Given the description of an element on the screen output the (x, y) to click on. 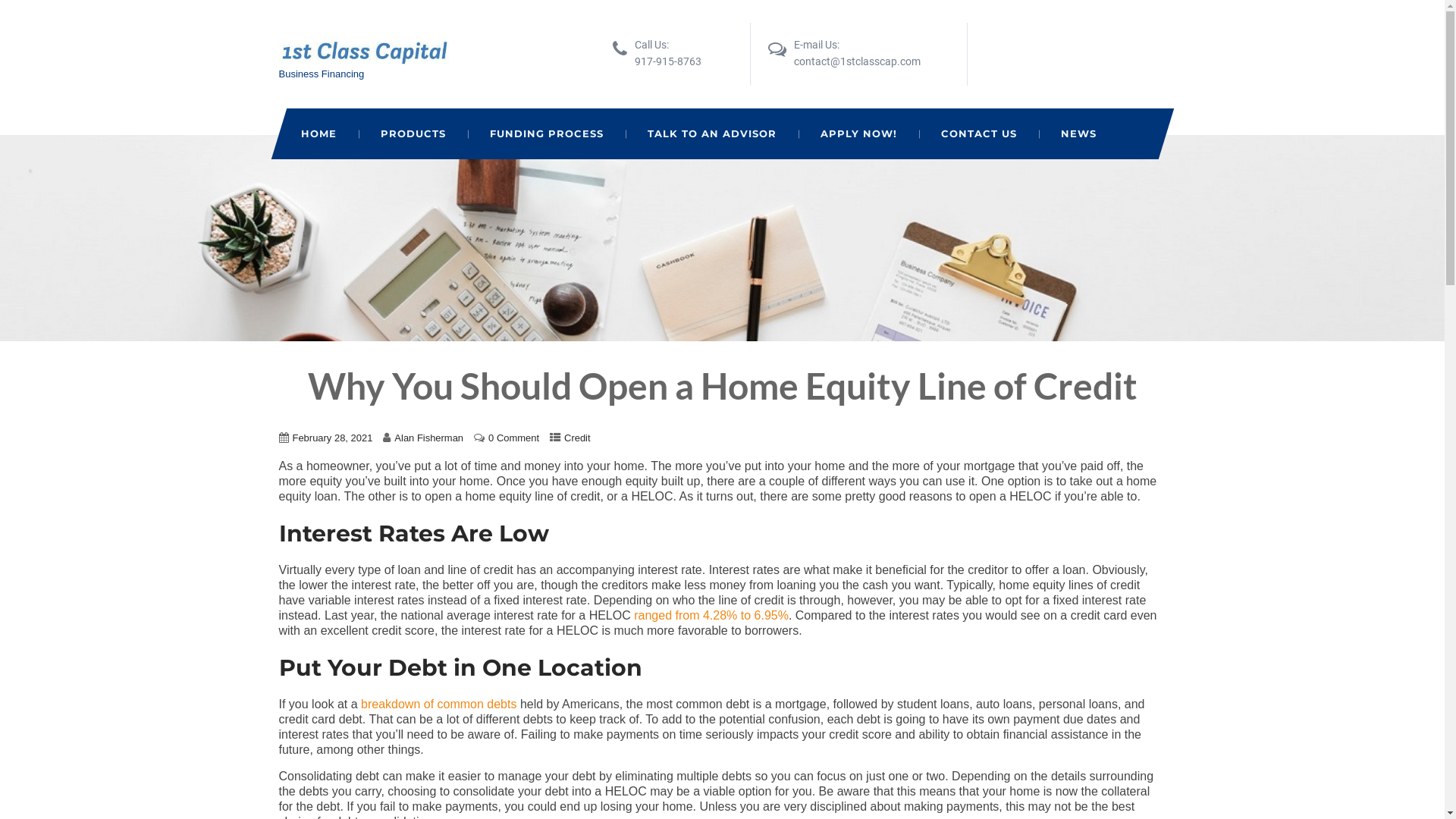
contact@1stclasscap.com Element type: text (856, 61)
APPLY NOW! Element type: text (857, 133)
917-915-8763 Element type: text (666, 61)
Alan Fisherman Element type: text (428, 437)
Credit Element type: text (577, 437)
0 Comment Element type: text (513, 437)
HOME Element type: text (318, 133)
breakdown of common debts Element type: text (438, 703)
TALK TO AN ADVISOR Element type: text (710, 133)
1st Class Capital Element type: hover (363, 60)
NEWS Element type: text (1078, 133)
ranged from 4.28% to 6.95% Element type: text (710, 614)
February 28, 2021 Element type: text (332, 437)
CONTACT US Element type: text (978, 133)
PRODUCTS Element type: text (412, 133)
FUNDING PROCESS Element type: text (545, 133)
